Given the description of an element on the screen output the (x, y) to click on. 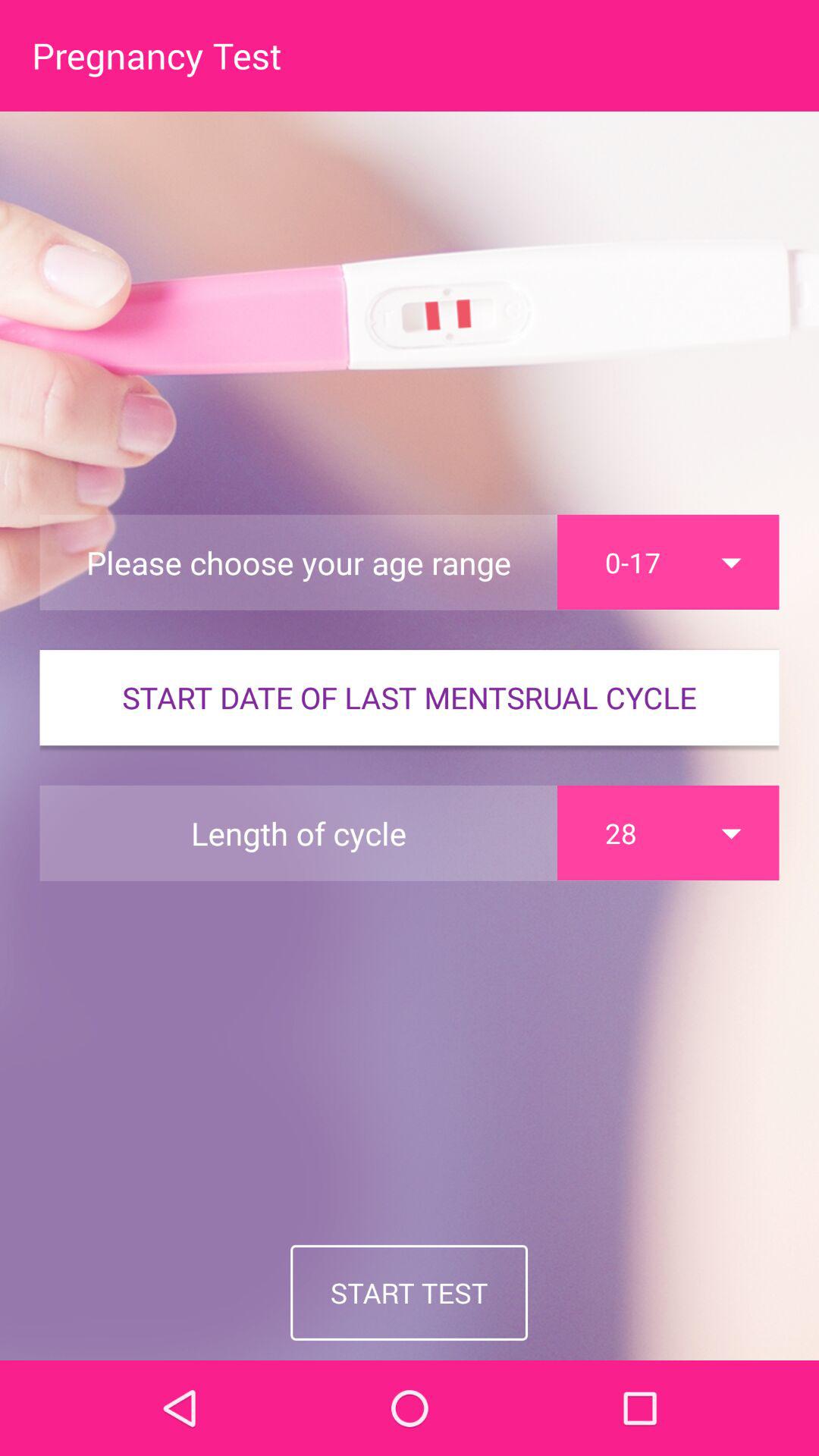
press item to the right of the please choose your icon (668, 562)
